Given the description of an element on the screen output the (x, y) to click on. 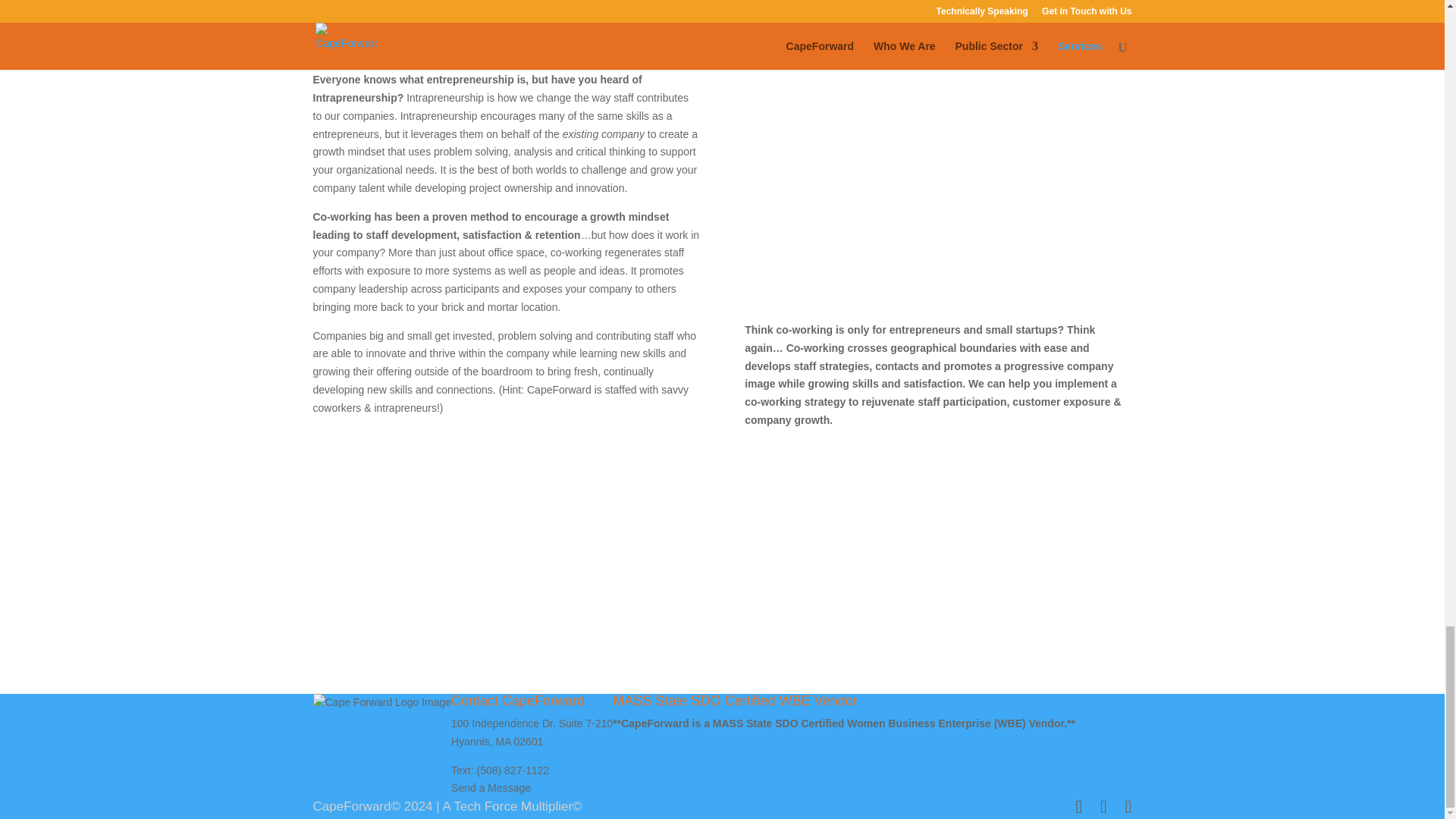
Send a Message (491, 787)
